Given the description of an element on the screen output the (x, y) to click on. 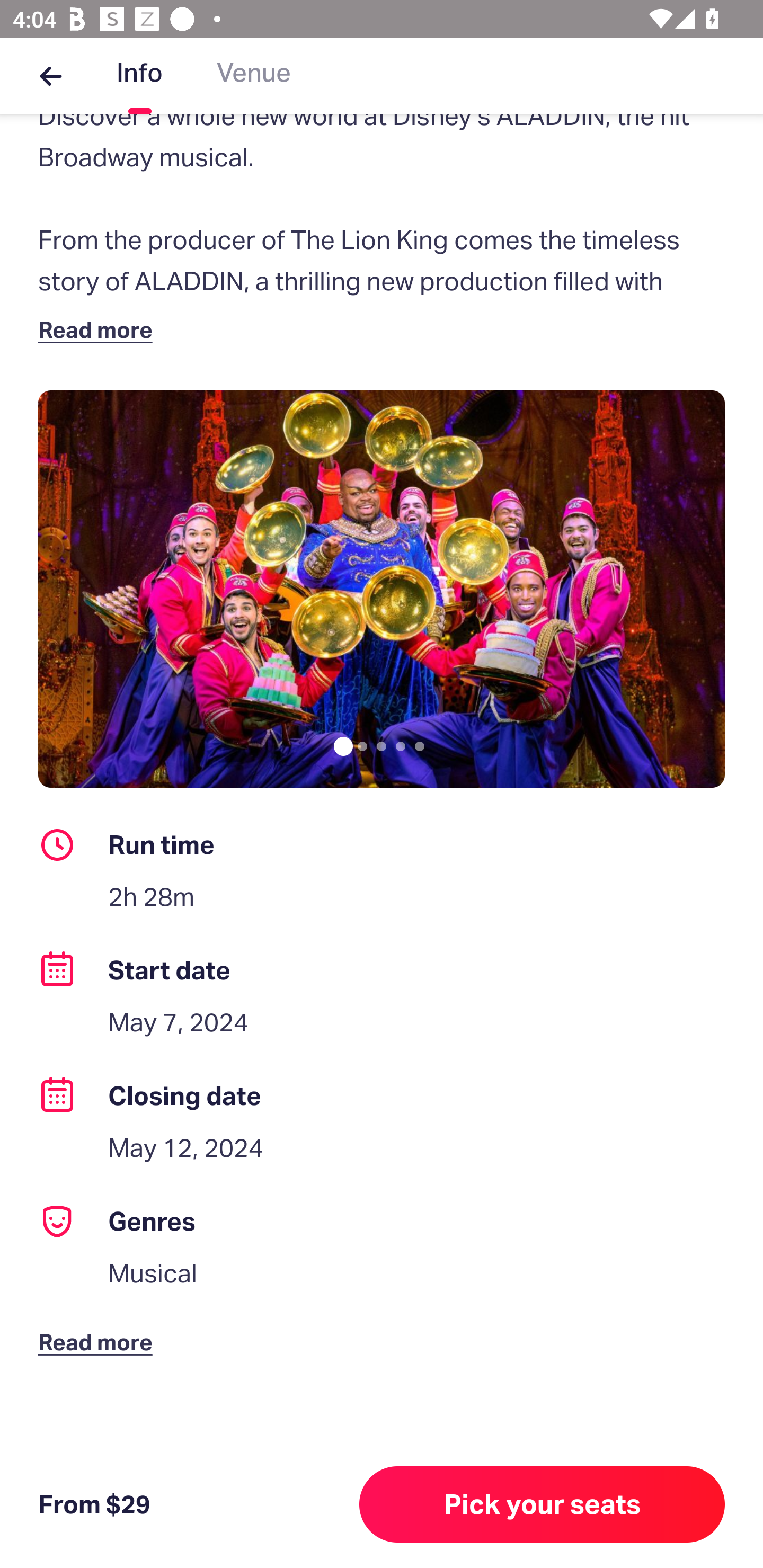
Venue (253, 75)
Read more (99, 328)
Read more (99, 1327)
Pick your seats (541, 1504)
